Given the description of an element on the screen output the (x, y) to click on. 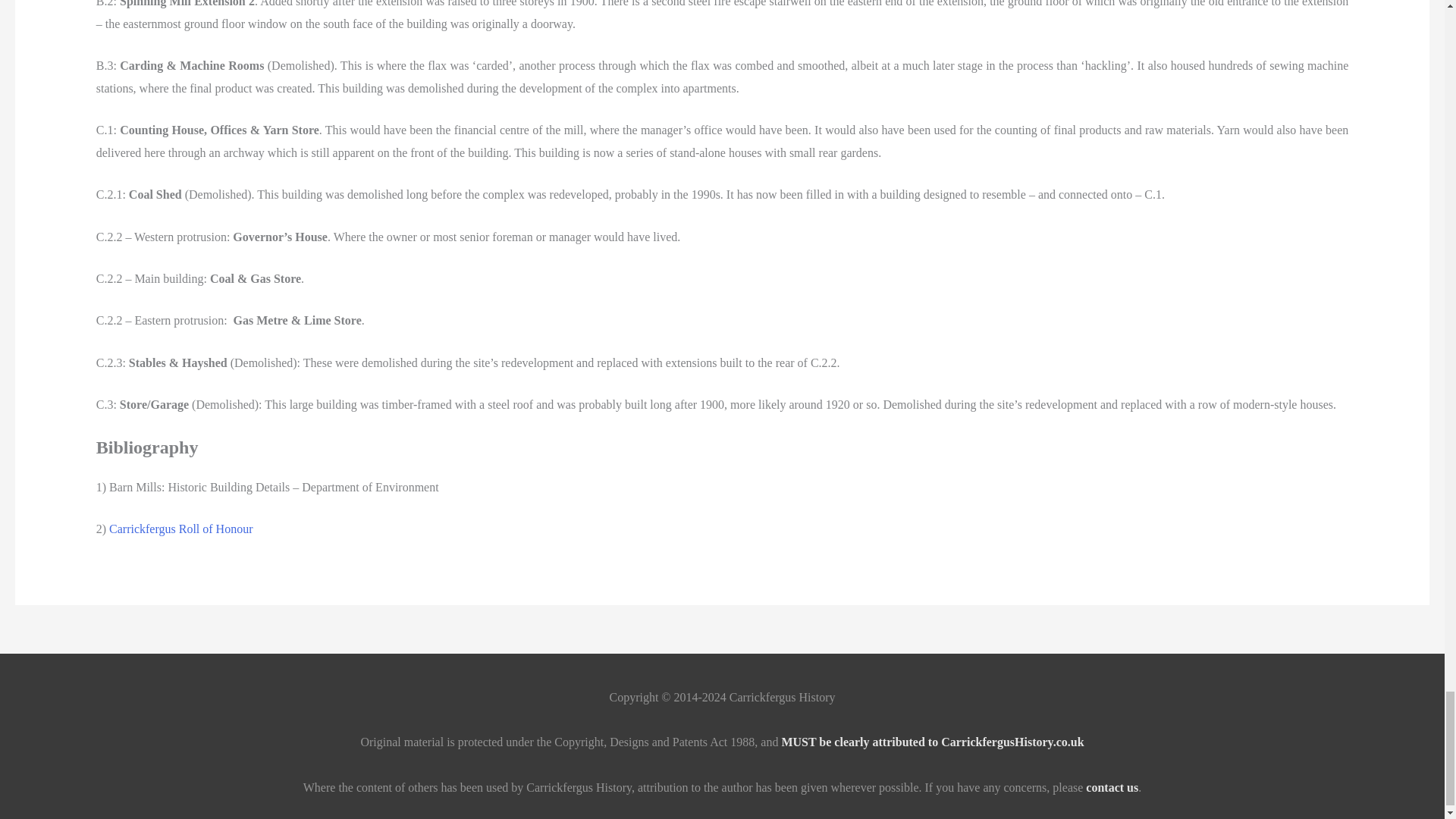
Carrickfergus Roll of Honour (180, 528)
contact us (1112, 787)
Carrickfergus Roll of Honour (180, 528)
MUST be clearly attributed to CarrickfergusHistory.co.uk (931, 741)
